Given the description of an element on the screen output the (x, y) to click on. 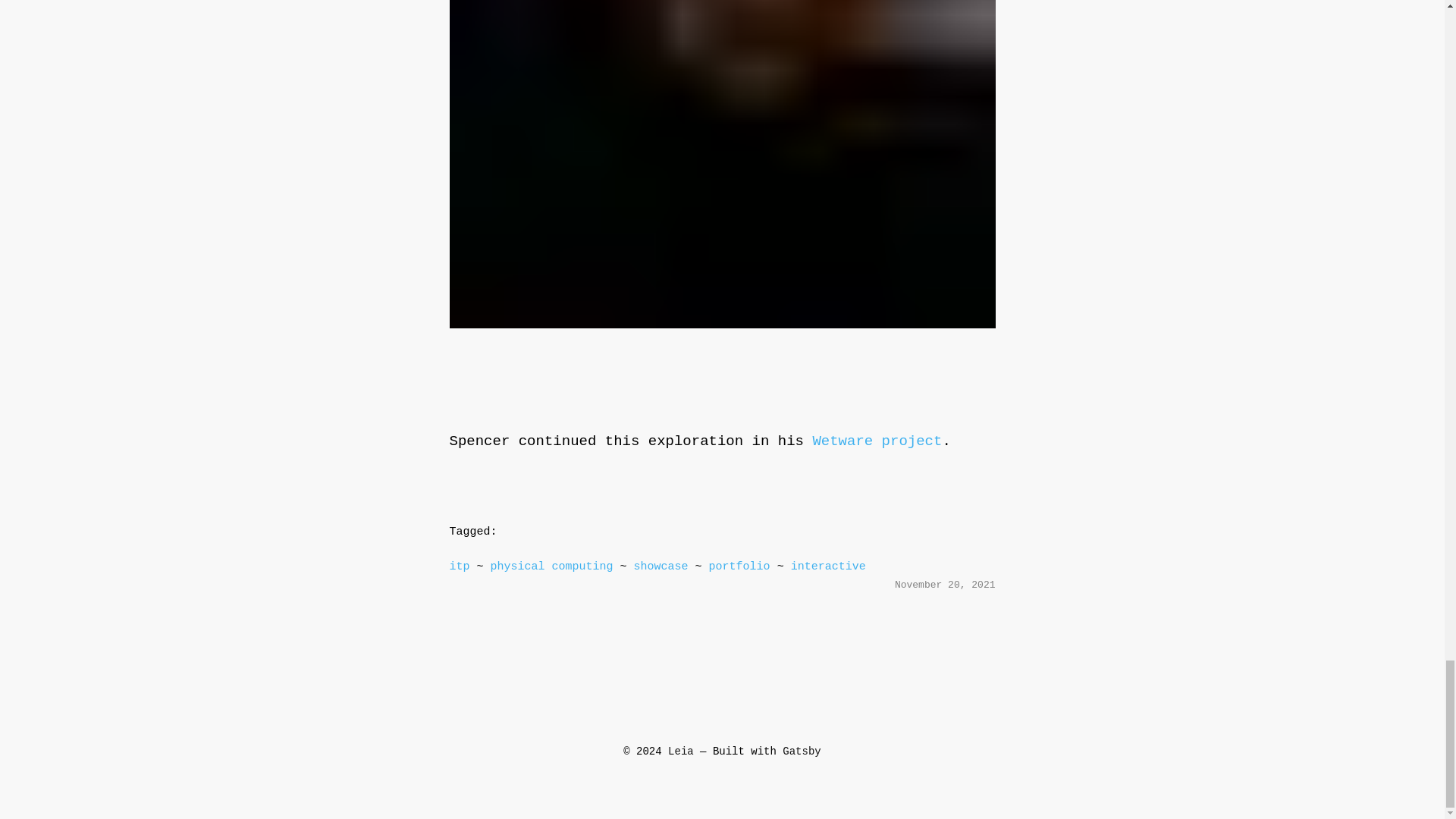
portfolio (739, 567)
physical computing (551, 567)
Leia (681, 751)
Gatsby (802, 751)
itp (458, 567)
interactive (828, 567)
Wetware project (877, 442)
showcase (660, 567)
